Given the description of an element on the screen output the (x, y) to click on. 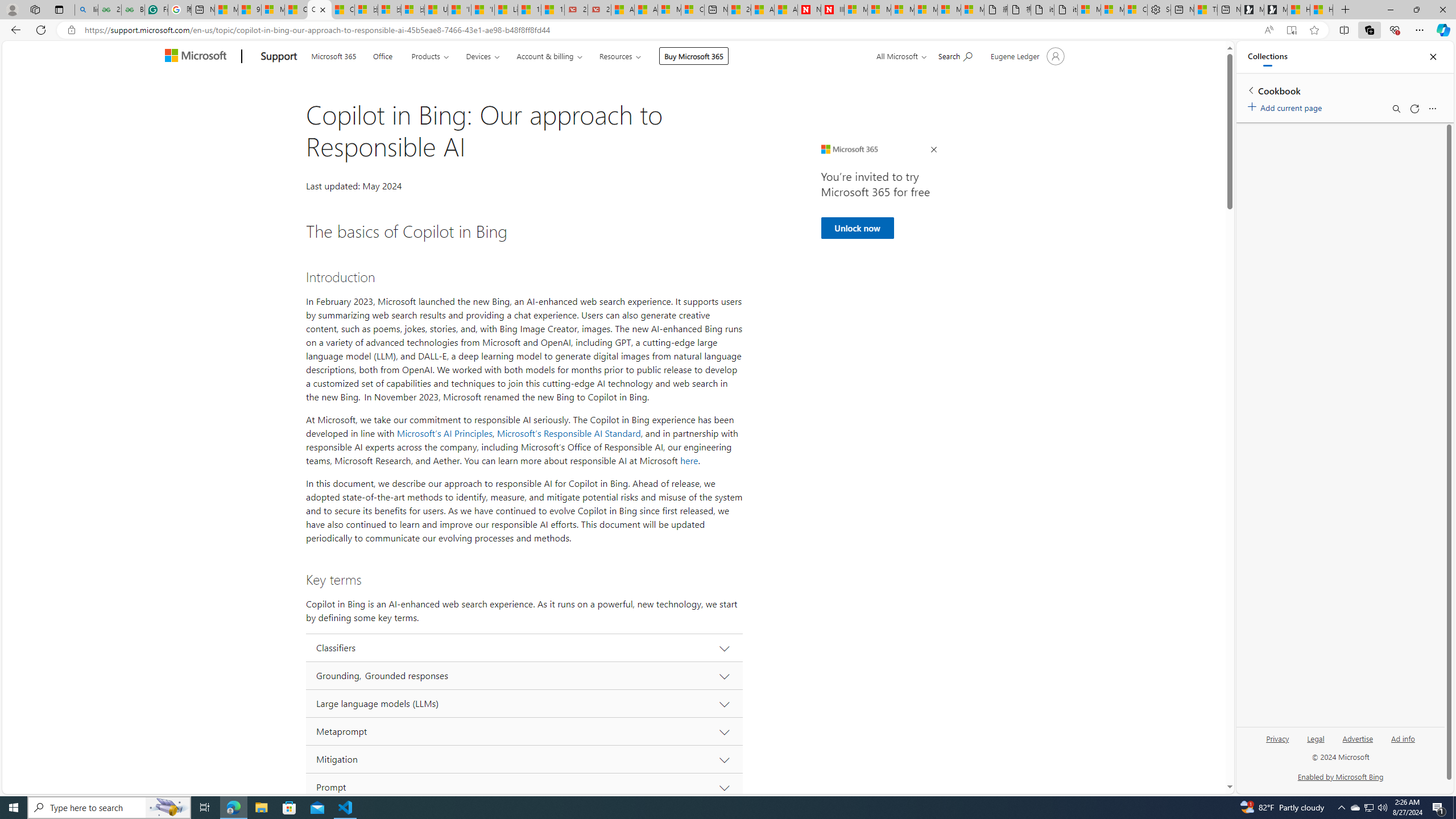
25 Basic Linux Commands For Beginners - GeeksforGeeks (109, 9)
Consumer Health Data Privacy Policy (1135, 9)
linux basic - Search (86, 9)
Lifestyle - MSN (505, 9)
Office (382, 54)
20 Ways to Boost Your Protein Intake at Every Meal (738, 9)
